Given the description of an element on the screen output the (x, y) to click on. 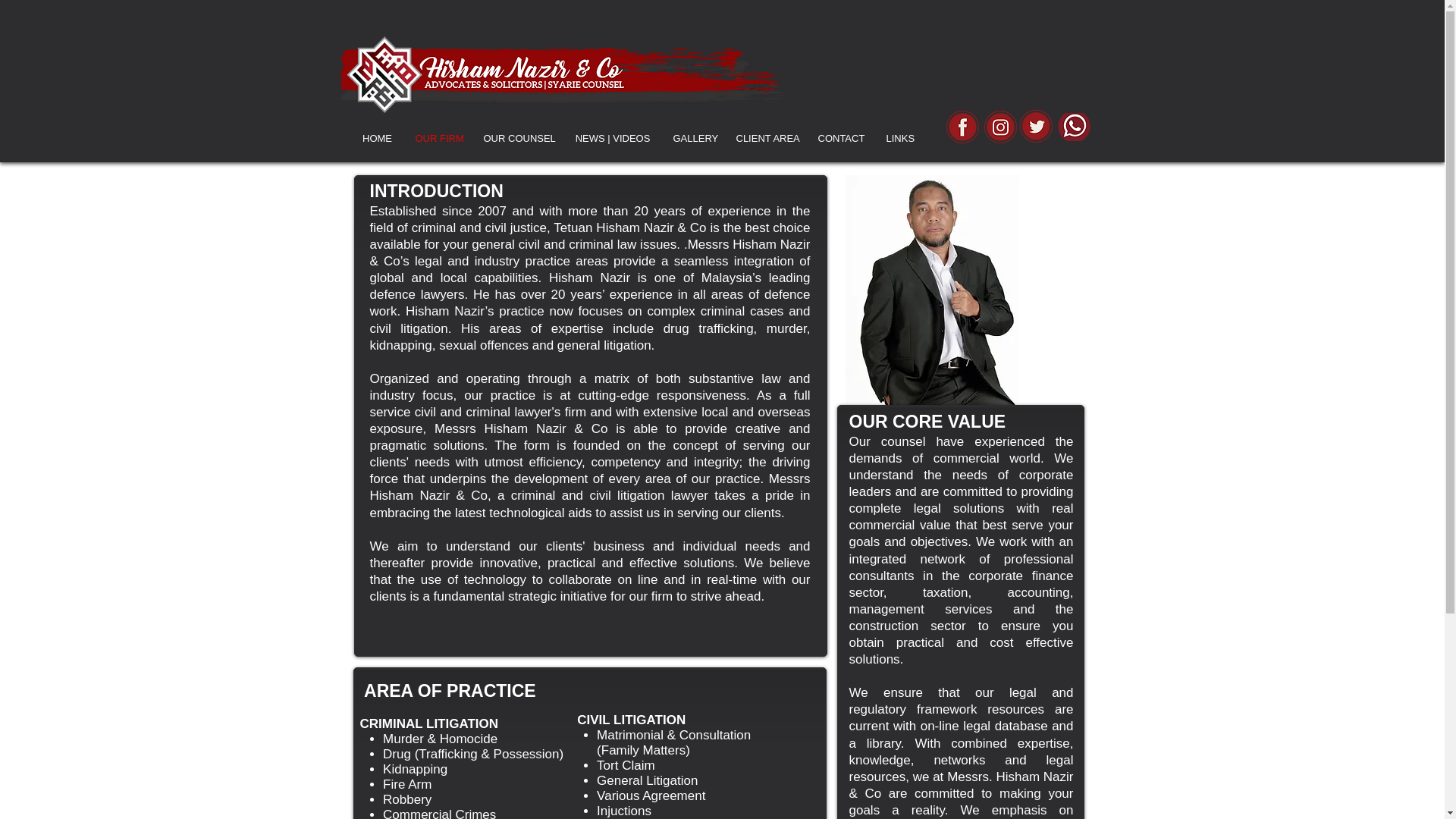
OUR COUNSEL (517, 138)
HOME (376, 138)
CLIENT AREA (765, 138)
LINKS (899, 138)
OUR FIRM (437, 138)
CONTACT (840, 138)
GALLERY (692, 138)
